Given the description of an element on the screen output the (x, y) to click on. 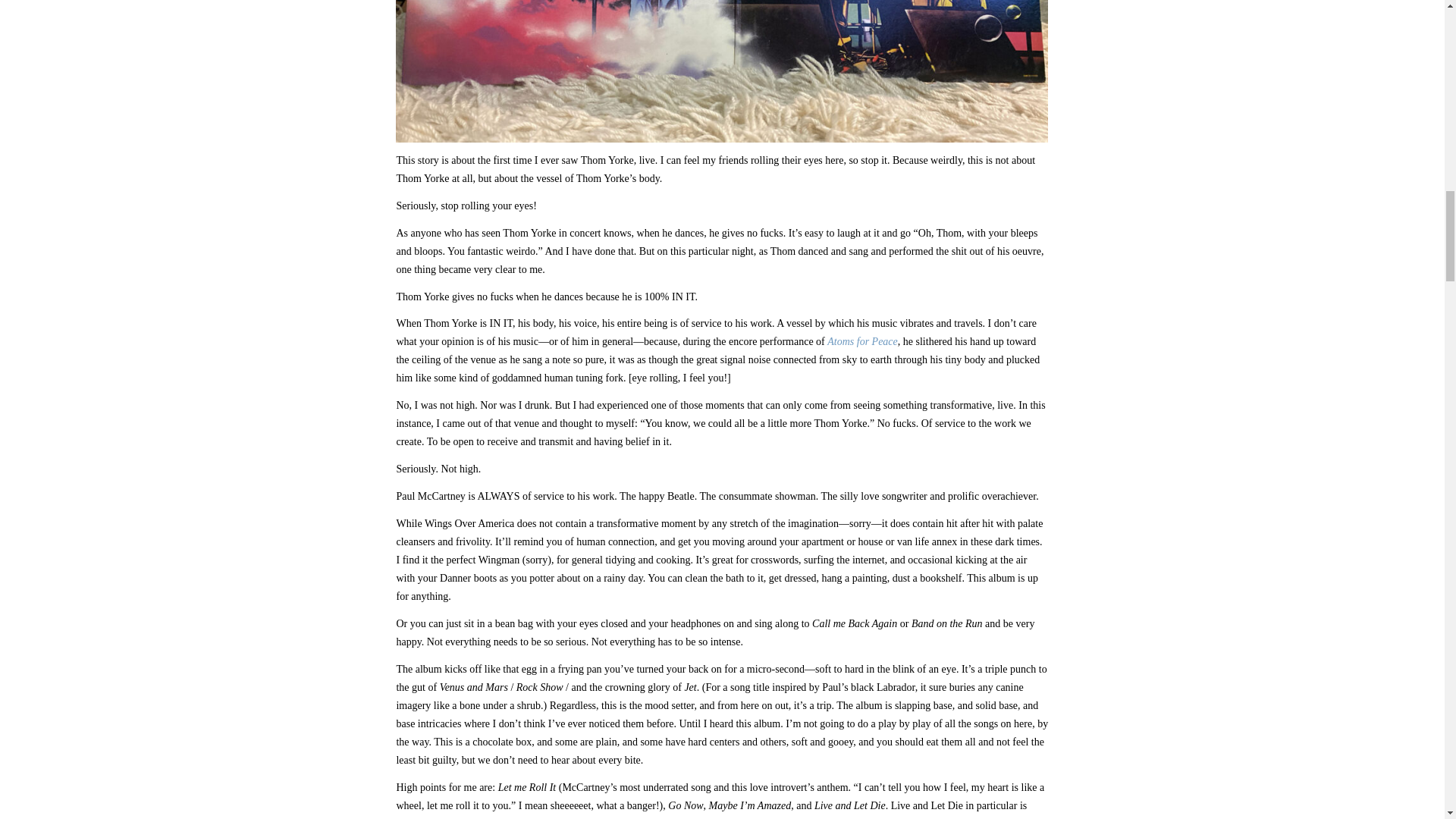
Atoms for Peace (862, 341)
